Given the description of an element on the screen output the (x, y) to click on. 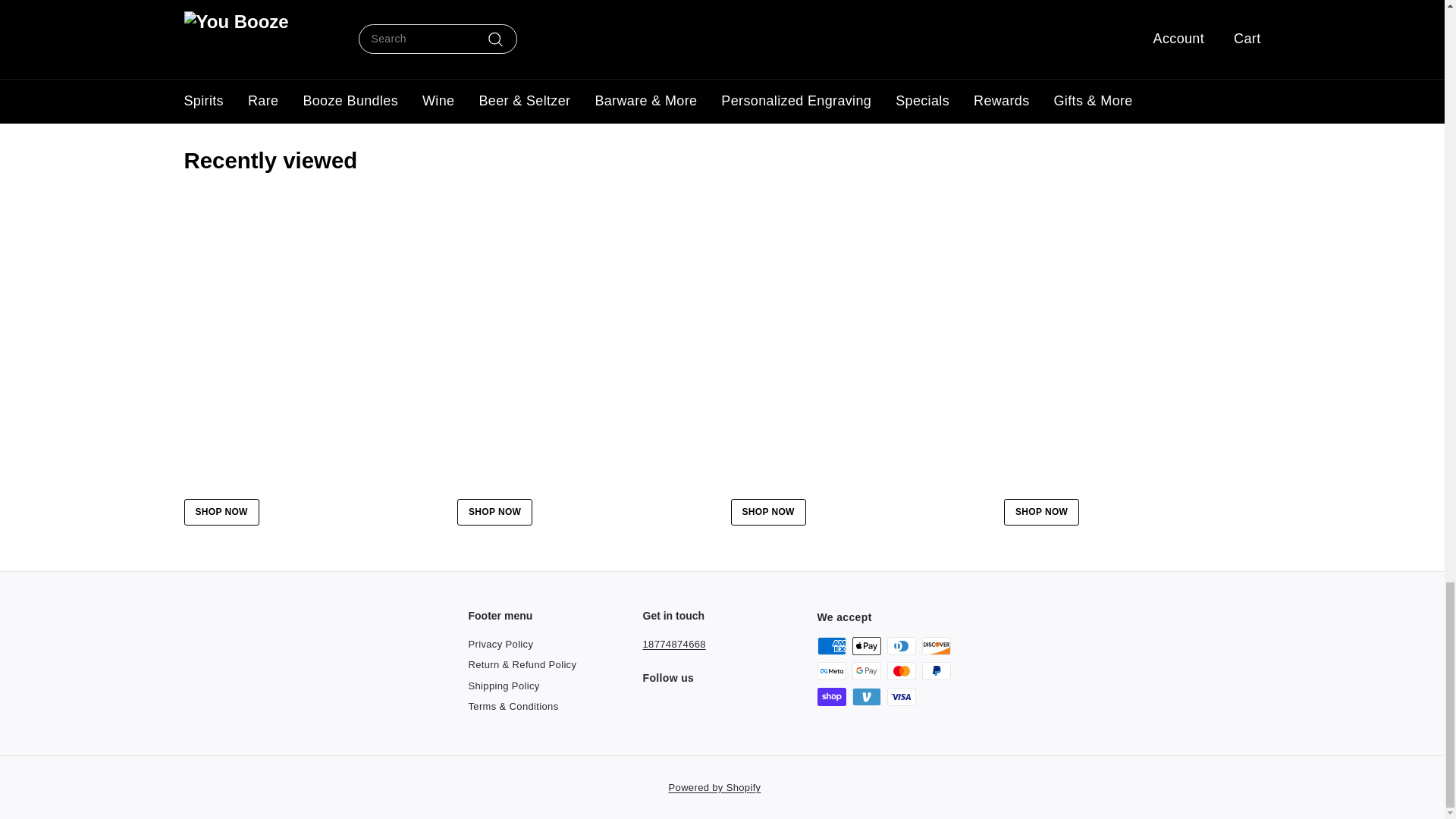
Diners Club (900, 646)
American Express (830, 646)
Visa (900, 696)
Mastercard (900, 670)
Meta Pay (830, 670)
Venmo (865, 696)
PayPal (935, 670)
Google Pay (865, 670)
Shop Pay (830, 696)
Apple Pay (865, 646)
Discover (935, 646)
